Given the description of an element on the screen output the (x, y) to click on. 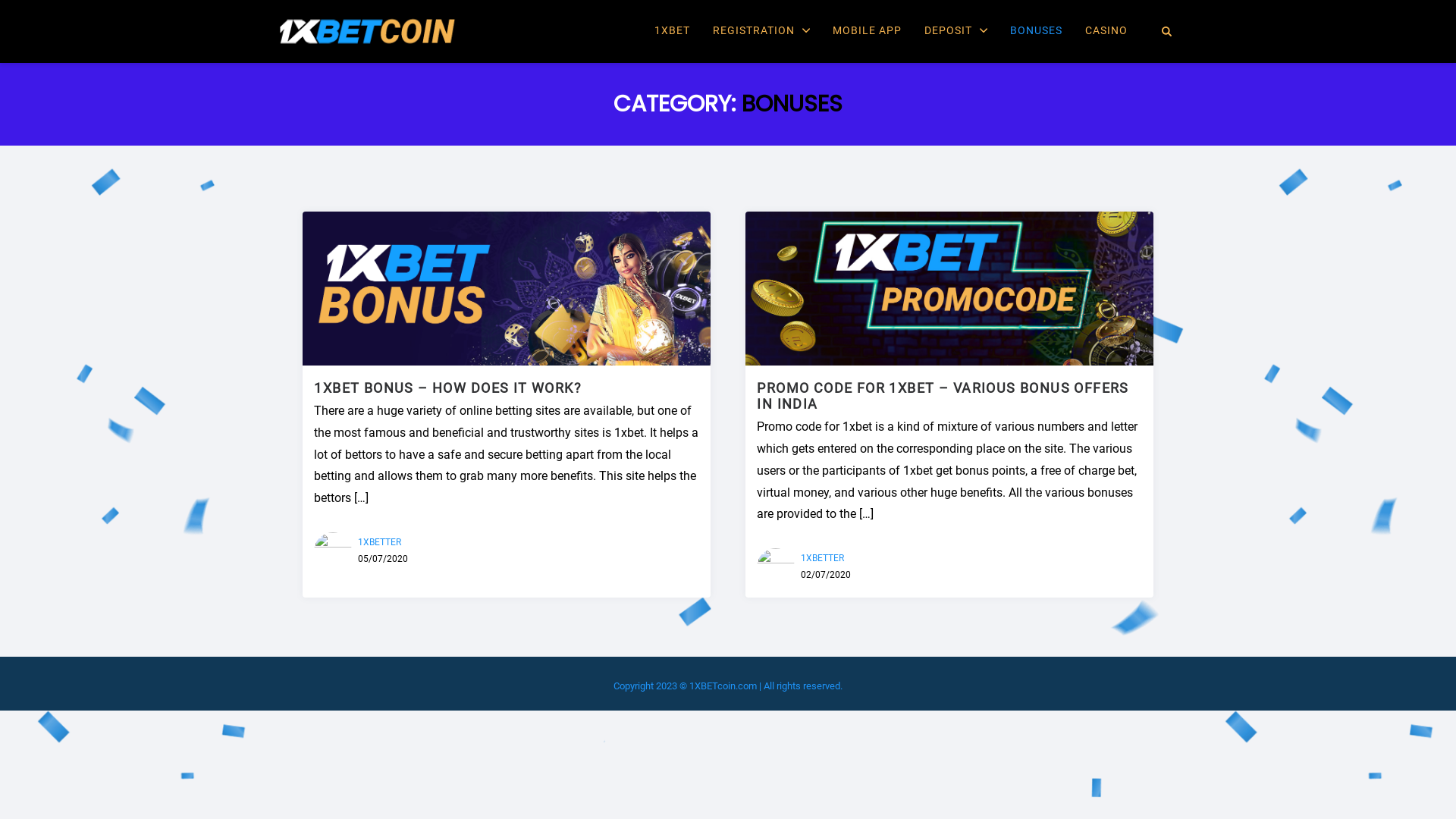
1XBETTER Element type: text (822, 557)
DEPOSIT Element type: text (955, 30)
BONUSES Element type: text (1035, 30)
1XBET Element type: text (672, 30)
1XBETTER Element type: text (379, 541)
MOBILE APP Element type: text (867, 30)
REGISTRATION Element type: text (761, 30)
